Given the description of an element on the screen output the (x, y) to click on. 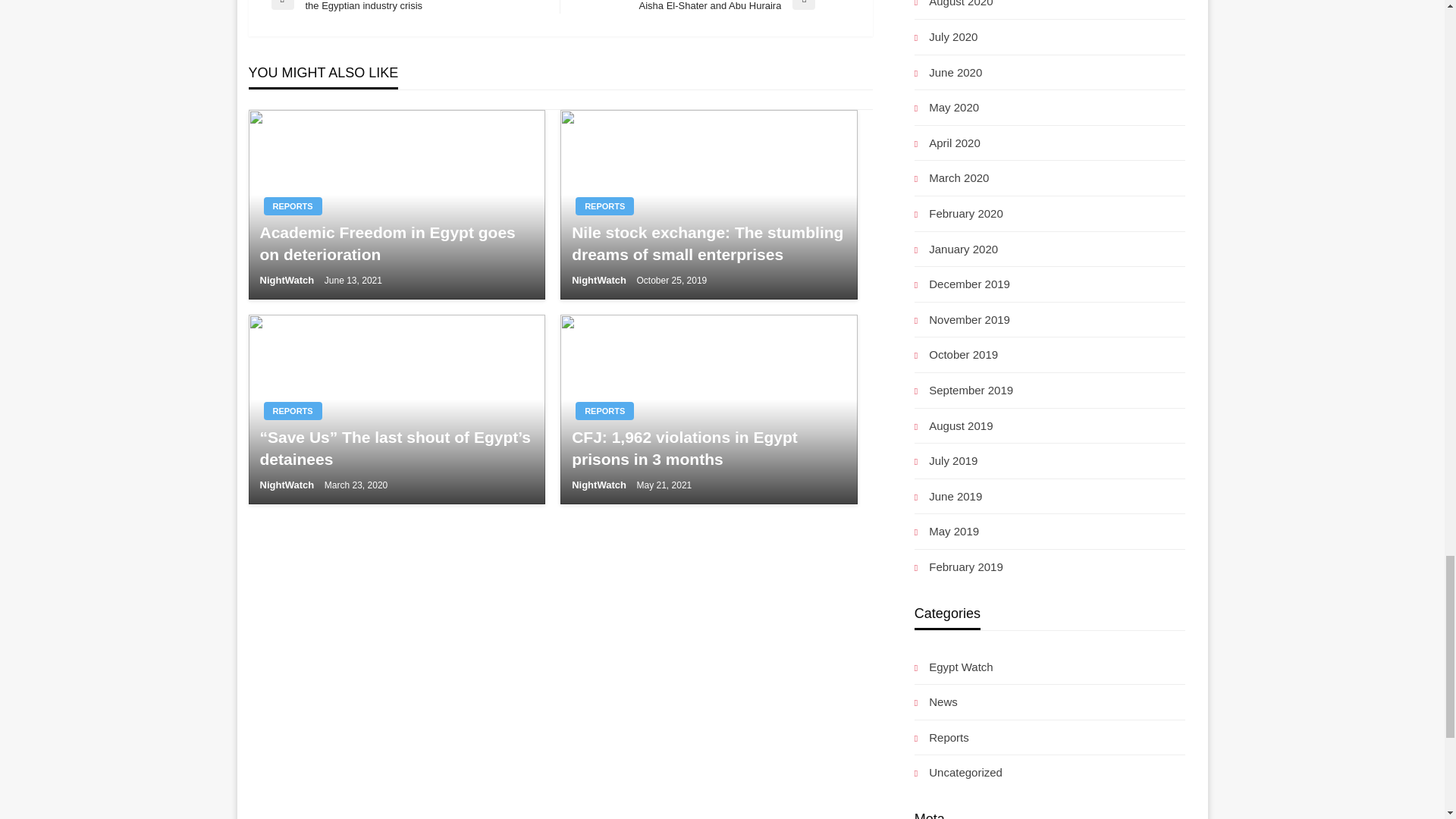
NightWatch (600, 279)
NightWatch (287, 484)
Academic Freedom in Egypt goes on deterioration (396, 243)
REPORTS (604, 411)
NightWatch (287, 279)
REPORTS (292, 411)
NightWatch (600, 484)
